Given the description of an element on the screen output the (x, y) to click on. 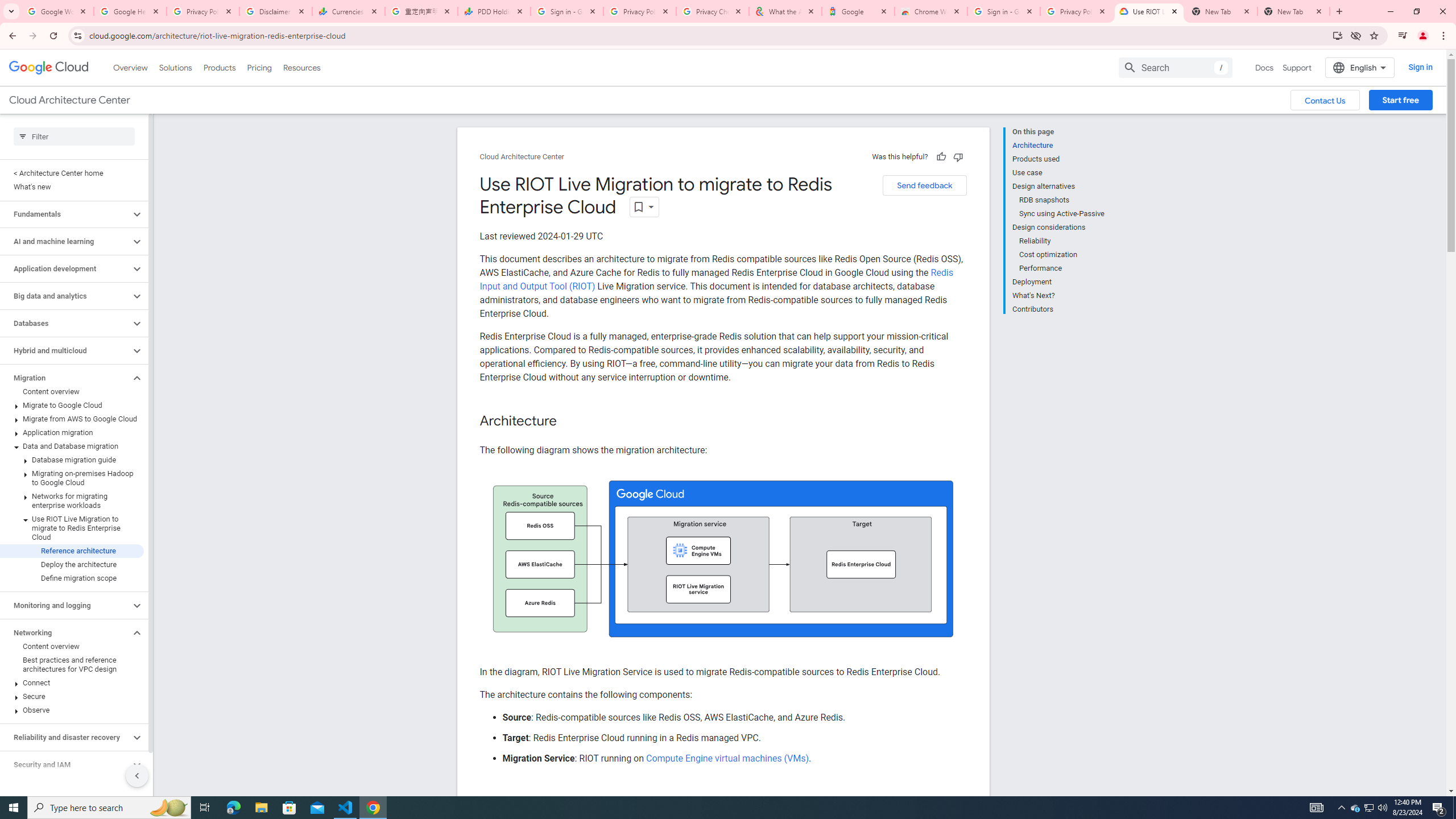
Use case (1058, 172)
Migrate to Google Cloud (72, 404)
Products used (1058, 159)
Networks for migrating enterprise workloads (72, 500)
Open dropdown (643, 206)
Cost optimization (1062, 254)
Not helpful (957, 156)
Fundamentals (64, 214)
Contact Us (1324, 100)
